Given the description of an element on the screen output the (x, y) to click on. 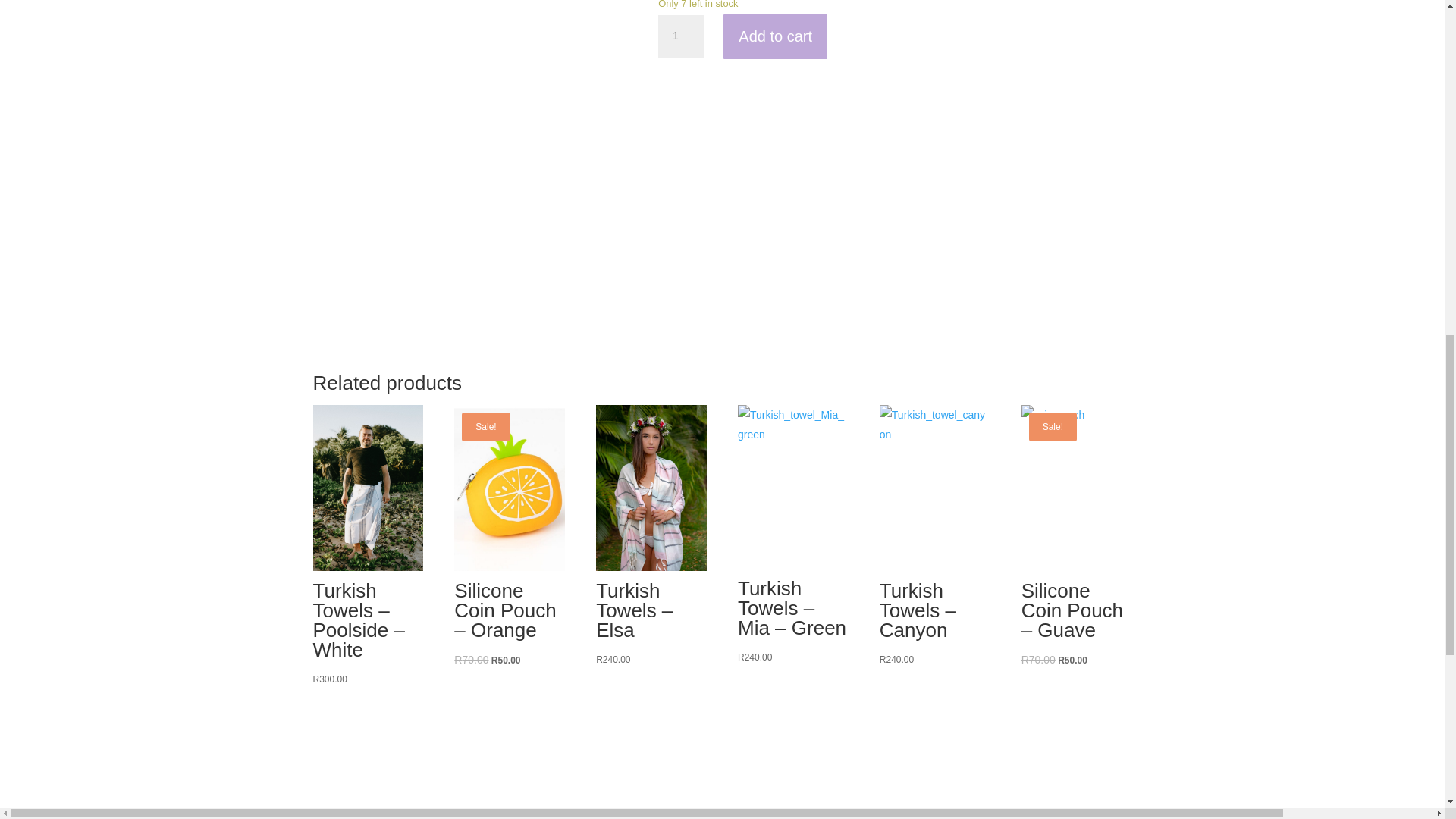
1 (680, 36)
